Given the description of an element on the screen output the (x, y) to click on. 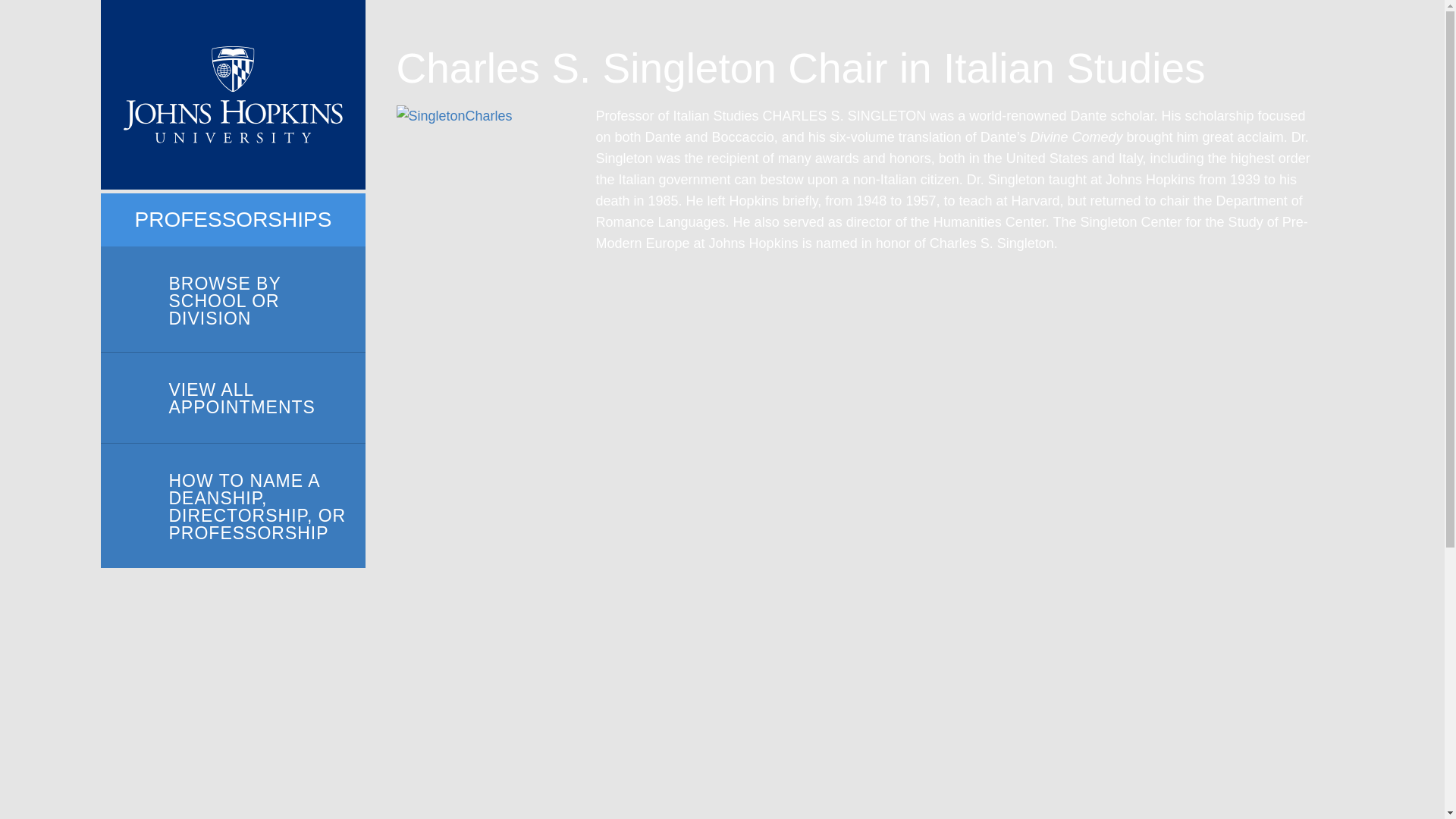
BROWSE BY SCHOOL OR DIVISION (232, 299)
JHU Professorships (232, 94)
HOW TO NAME A DEANSHIP, DIRECTORSHIP, OR PROFESSORSHIP (232, 505)
PROFESSORSHIPS (233, 219)
VIEW ALL APPOINTMENTS (232, 397)
